Given the description of an element on the screen output the (x, y) to click on. 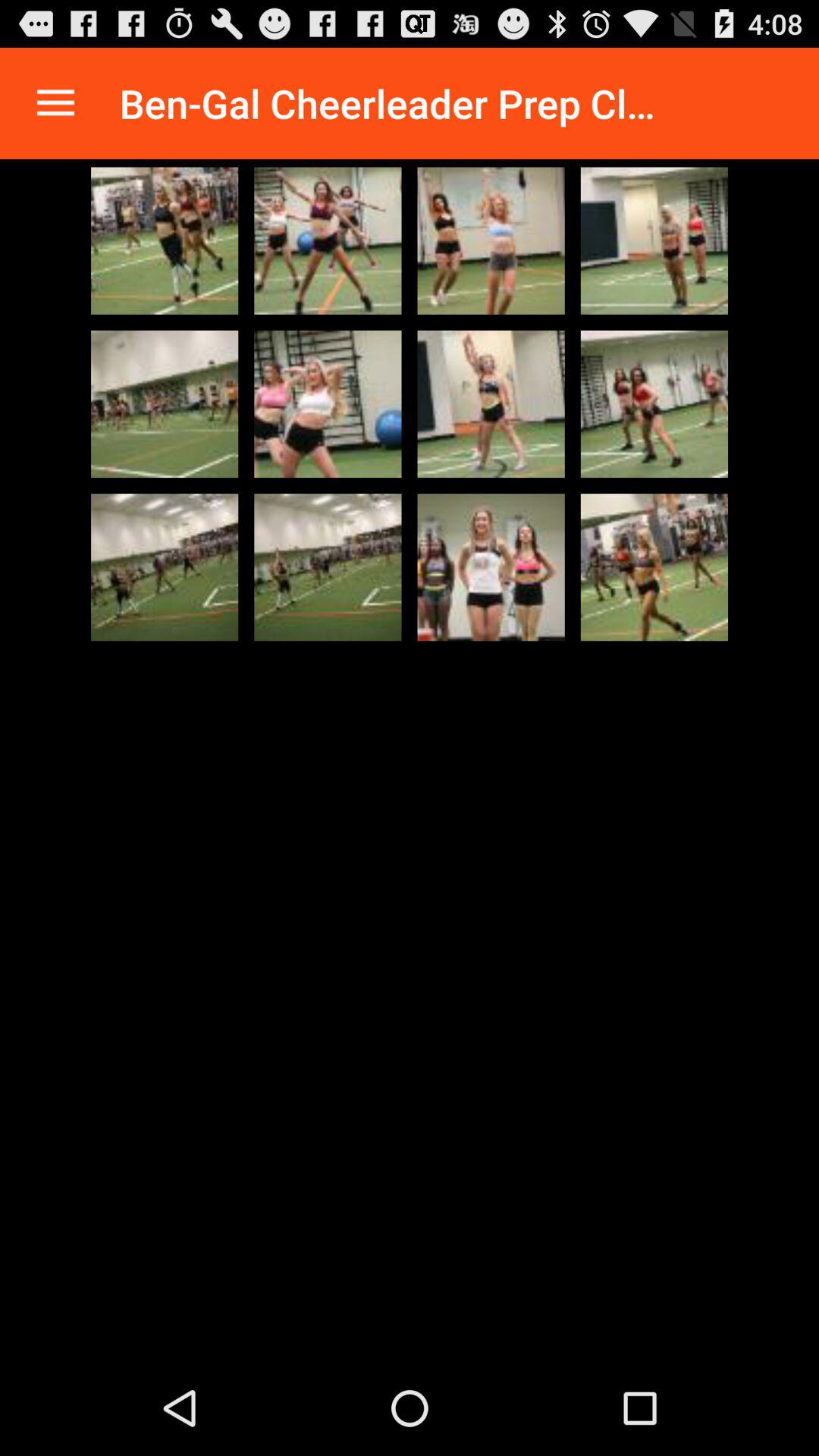
hit the fifth option (164, 403)
